Given the description of an element on the screen output the (x, y) to click on. 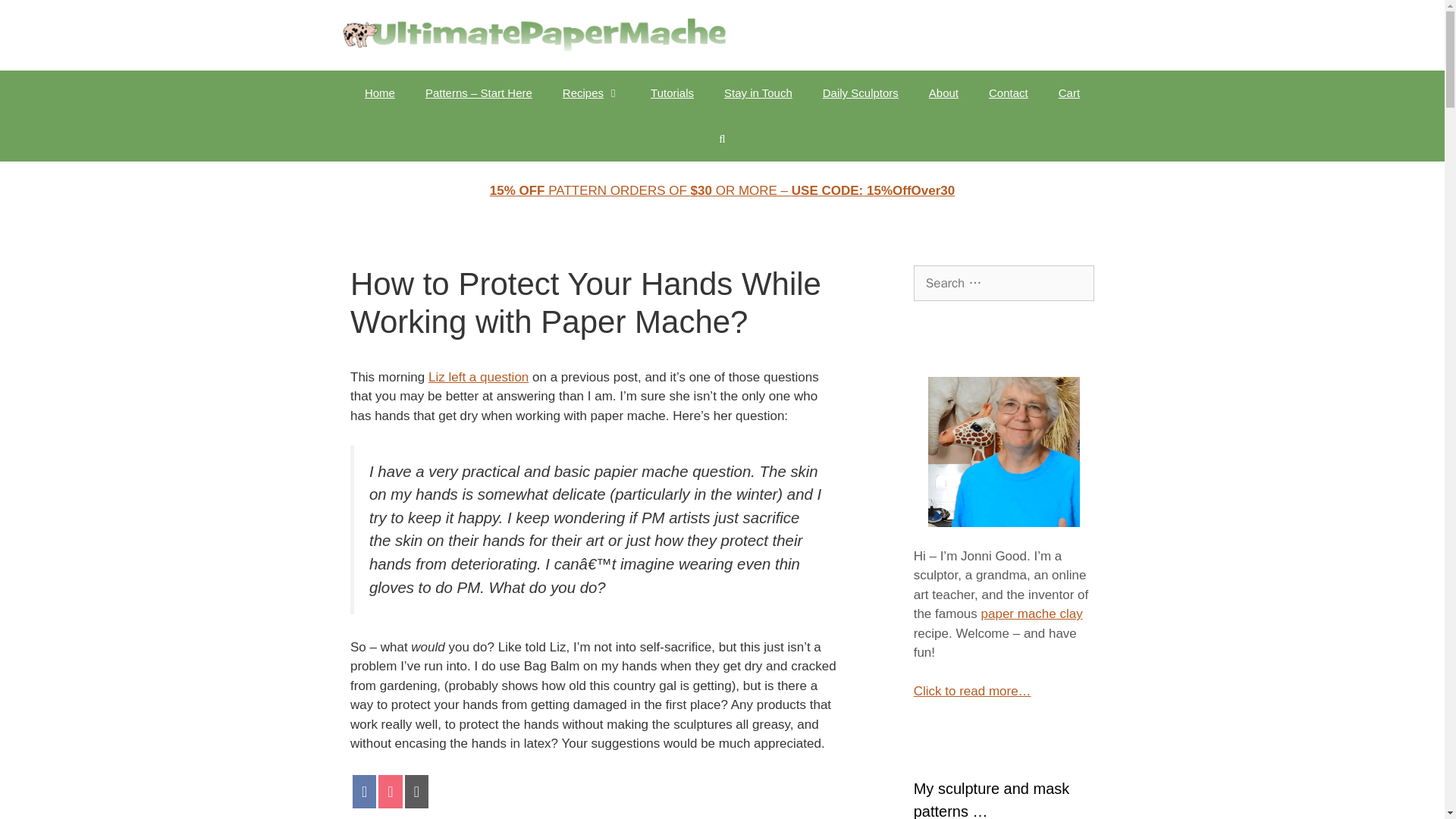
About (944, 93)
Contact (1008, 93)
Search for: (1004, 283)
Home (379, 93)
Liz left a question (478, 377)
Cart (1068, 93)
About the Artist (944, 93)
Tutorials (671, 93)
Recipes (590, 93)
Daily Sculptors (861, 93)
Stay in Touch (758, 93)
